Given the description of an element on the screen output the (x, y) to click on. 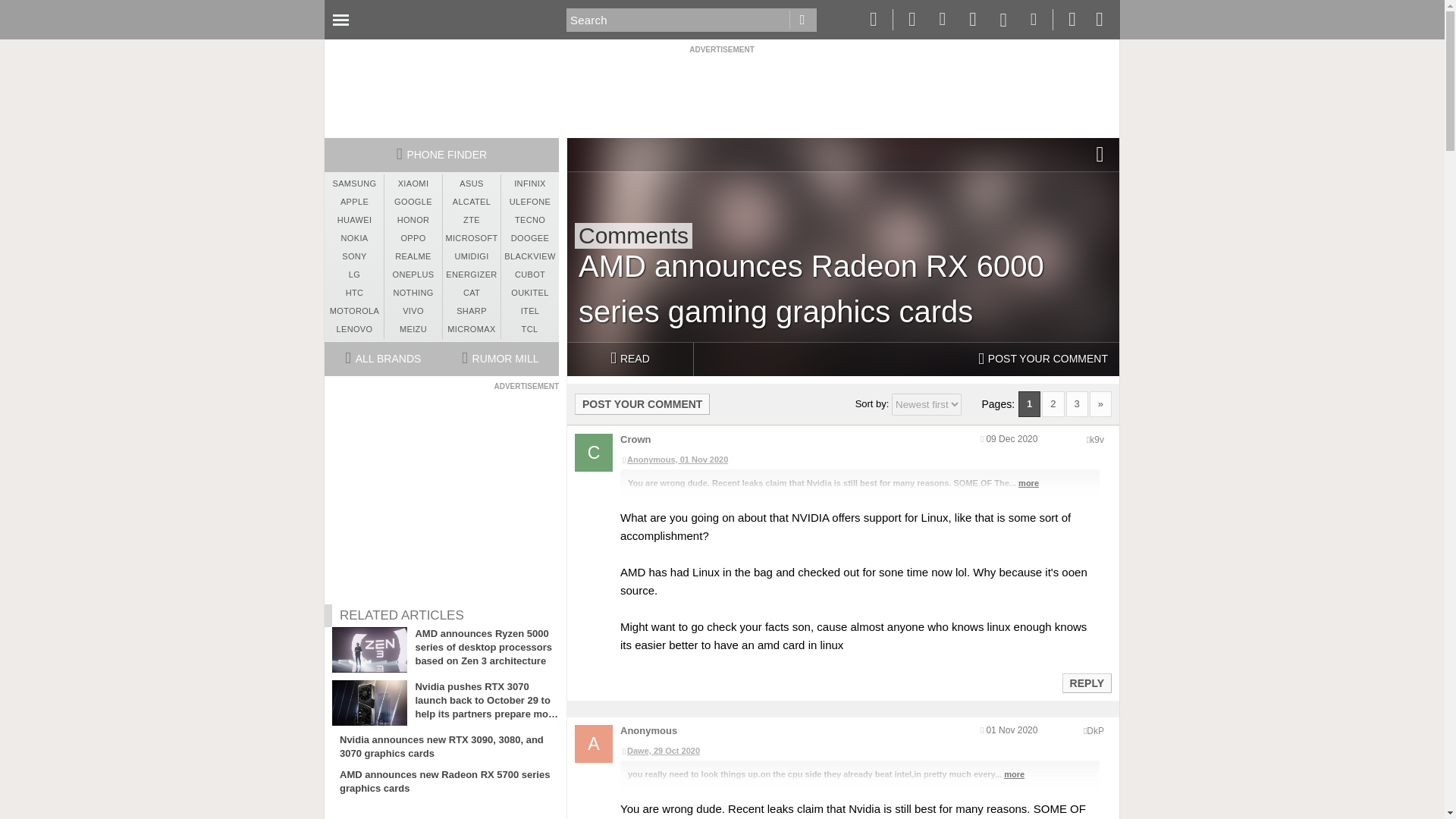
Go (802, 19)
REPLY (1086, 683)
more (1014, 773)
Encoded anonymized location (1096, 439)
POST YOUR COMMENT (642, 403)
more (1028, 482)
POST YOUR COMMENT (1042, 359)
Encoded anonymized location (1094, 730)
Reply to this post (1086, 683)
Dawe, 29 Oct 2020 (859, 751)
Go (802, 19)
READ (630, 359)
Anonymous, 01 Nov 2020 (859, 459)
Sort comments by (925, 404)
